Given the description of an element on the screen output the (x, y) to click on. 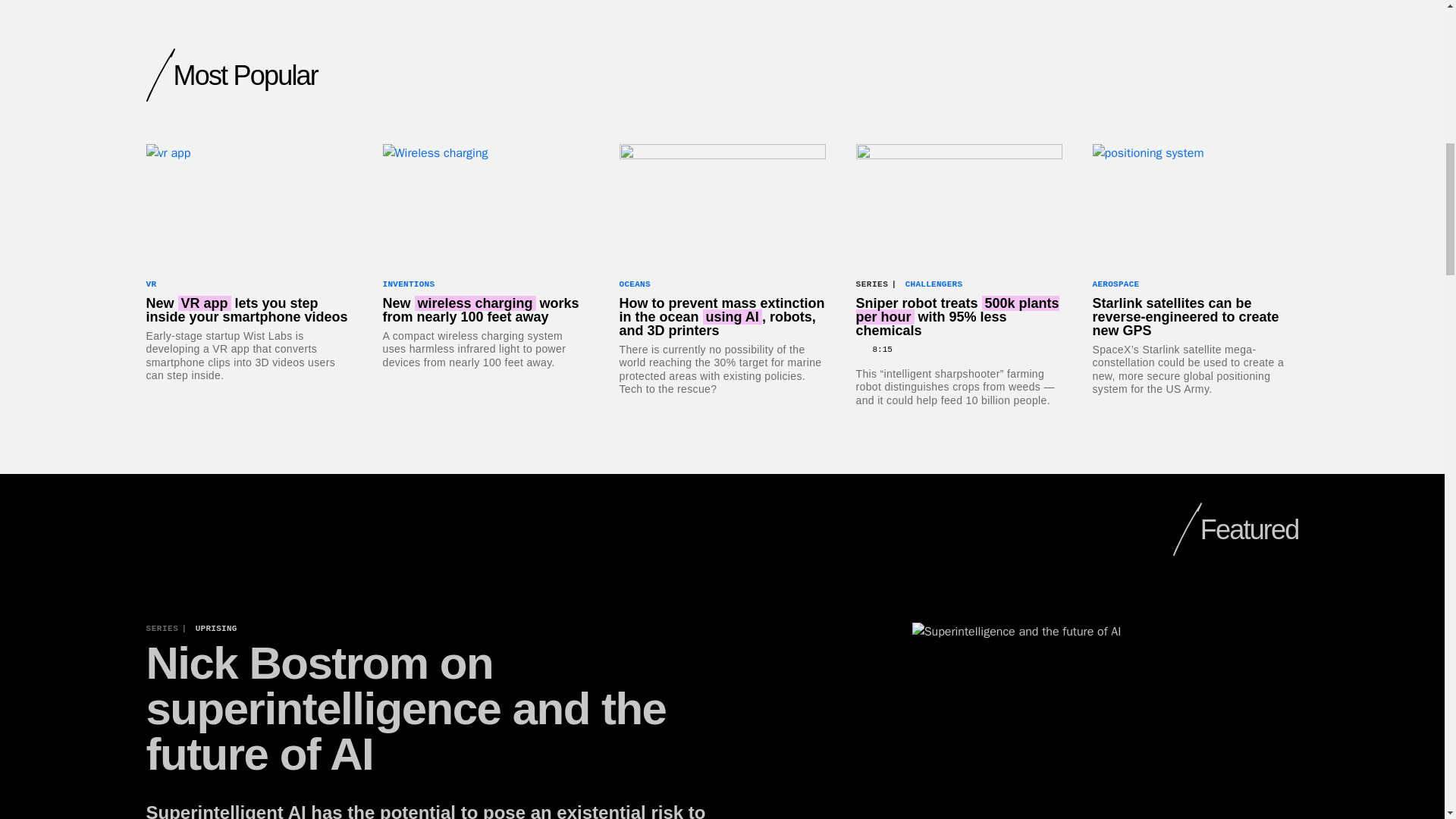
OCEANS (633, 284)
VR (150, 284)
New wireless charging works from nearly 100 feet away  (484, 309)
INVENTIONS (407, 284)
New VR app lets you step inside your smartphone videos  (248, 309)
